Given the description of an element on the screen output the (x, y) to click on. 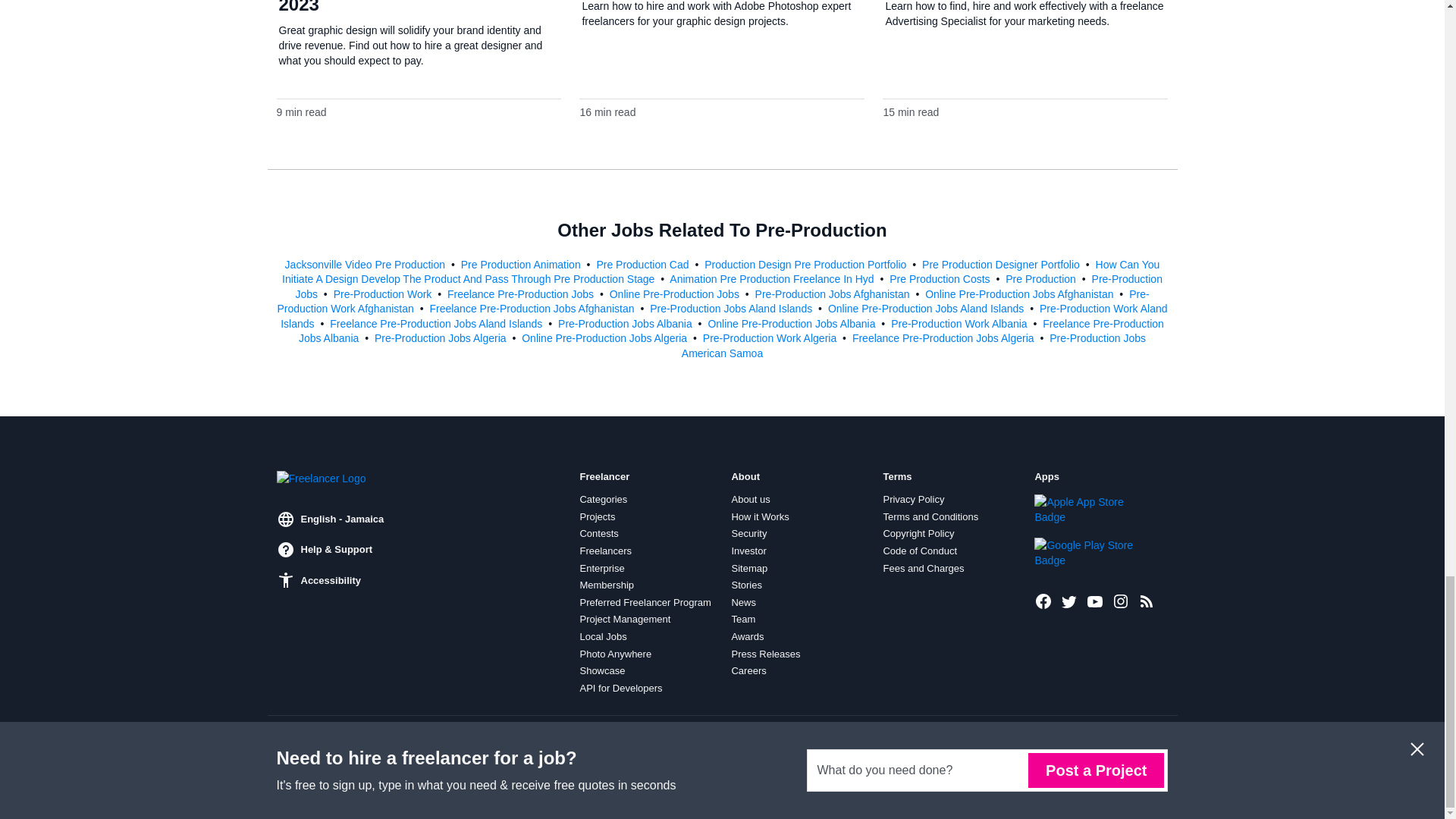
Freelancer on Instagram (1120, 600)
Get it on Google Play (1085, 552)
Freelancer on Youtube (1094, 600)
Freelancer on Twitter (1068, 600)
Freelancer on Facebook (1042, 600)
Download on the App Store (1085, 509)
Latest Projects (1146, 600)
